Given the description of an element on the screen output the (x, y) to click on. 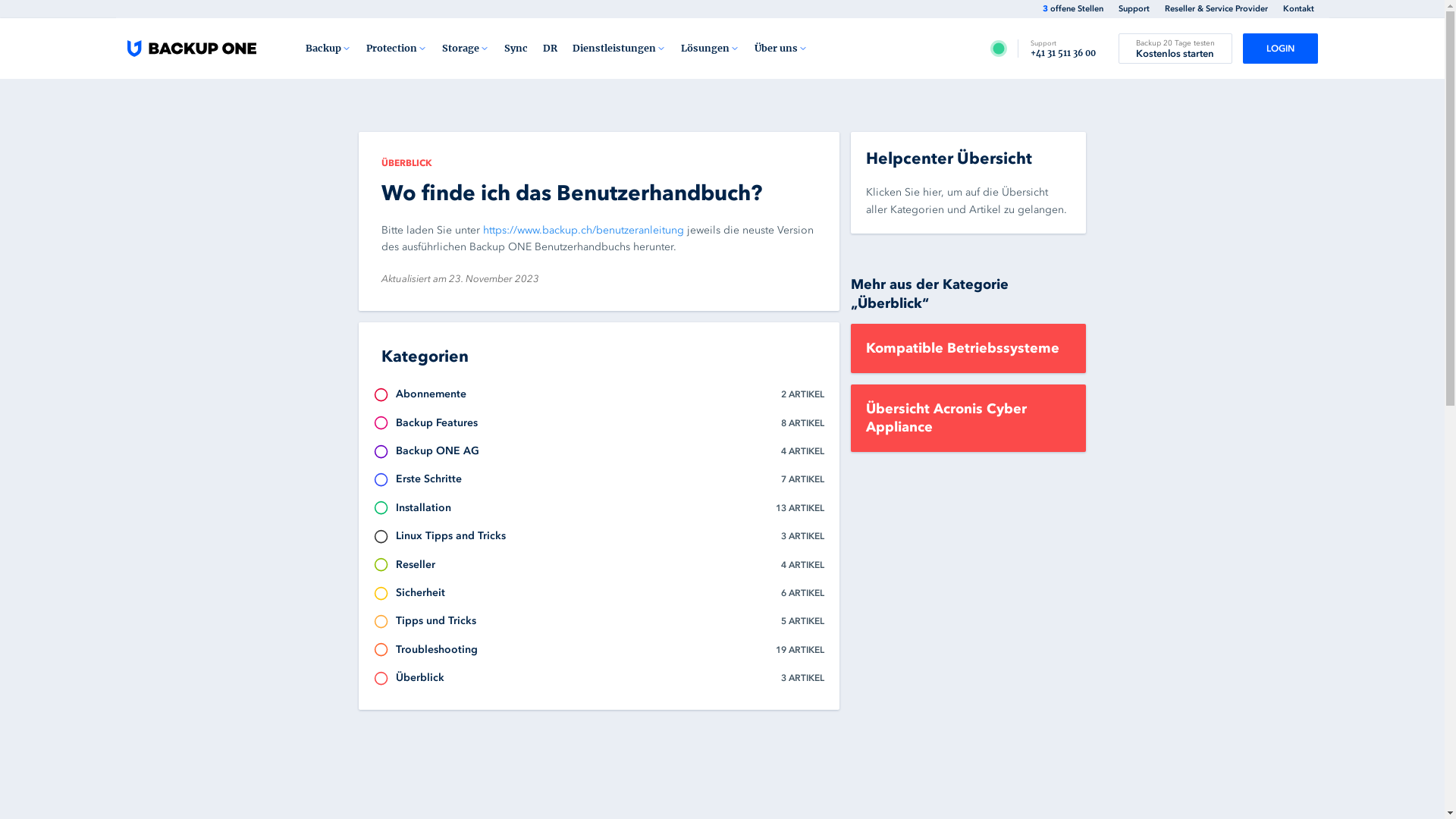
Support Element type: text (1132, 8)
Kompatible Betriebssysteme Element type: text (967, 348)
Storage Element type: text (465, 48)
DR Element type: text (549, 48)
Erste Schritte
7 ARTIKEL Element type: text (598, 479)
Dienstleistungen Element type: text (618, 48)
LOGIN Element type: text (1279, 48)
Tipps und Tricks
5 ARTIKEL Element type: text (598, 621)
Reseller & Service Provider Element type: text (1215, 8)
Backup Features
8 ARTIKEL Element type: text (598, 423)
Protection Element type: text (396, 48)
Troubleshooting
19 ARTIKEL Element type: text (598, 649)
Reseller
4 ARTIKEL Element type: text (598, 564)
Abonnemente
2 ARTIKEL Element type: text (598, 394)
https://www.backup.ch/benutzeranleitung Element type: text (582, 229)
Installation
13 ARTIKEL Element type: text (598, 508)
Sync Element type: text (515, 48)
Sicherheit
6 ARTIKEL Element type: text (598, 592)
3
 offene Stellen Element type: text (1071, 8)
Backup ONE AG
4 ARTIKEL Element type: text (598, 451)
Linux Tipps and Tricks
3 ARTIKEL Element type: text (598, 536)
Kontakt Element type: text (1298, 8)
Support
+41 31 511 36 00 Element type: text (1062, 47)
Backup Element type: text (327, 48)
  Backup 20 Tage testen
Kostenlos starten Element type: text (1175, 48)
